Given the description of an element on the screen output the (x, y) to click on. 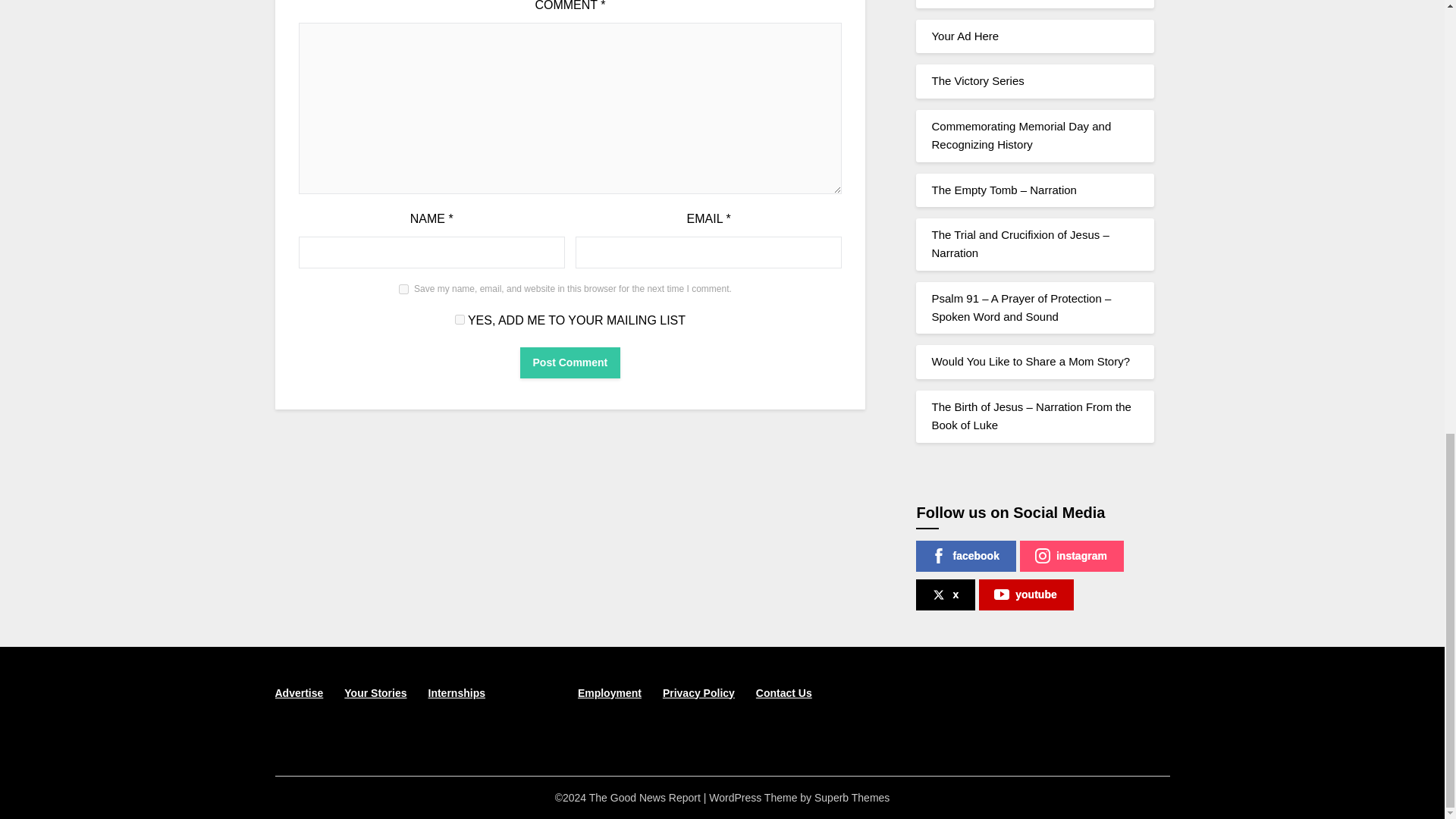
Commemorating Memorial Day and Recognizing History (1020, 134)
x (945, 594)
facebook (964, 555)
instagram (1072, 555)
1 (459, 319)
Post Comment (570, 362)
yes (403, 289)
The Victory Series (977, 80)
Would You Like to Share a Mom Story? (1030, 360)
Your Ad Here (964, 35)
Post Comment (570, 362)
youtube (1025, 594)
